Given the description of an element on the screen output the (x, y) to click on. 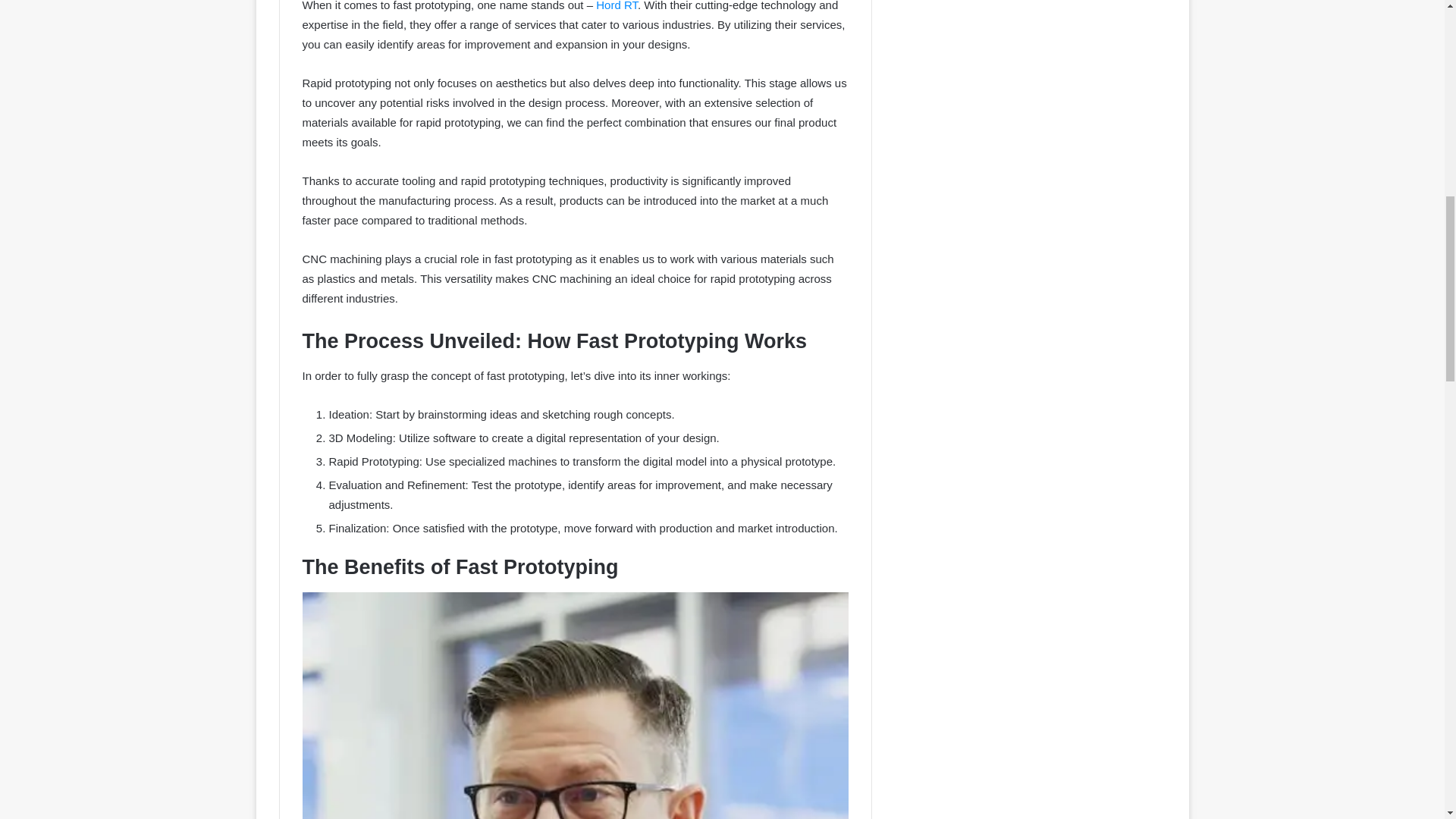
Hord RT (616, 5)
